Given the description of an element on the screen output the (x, y) to click on. 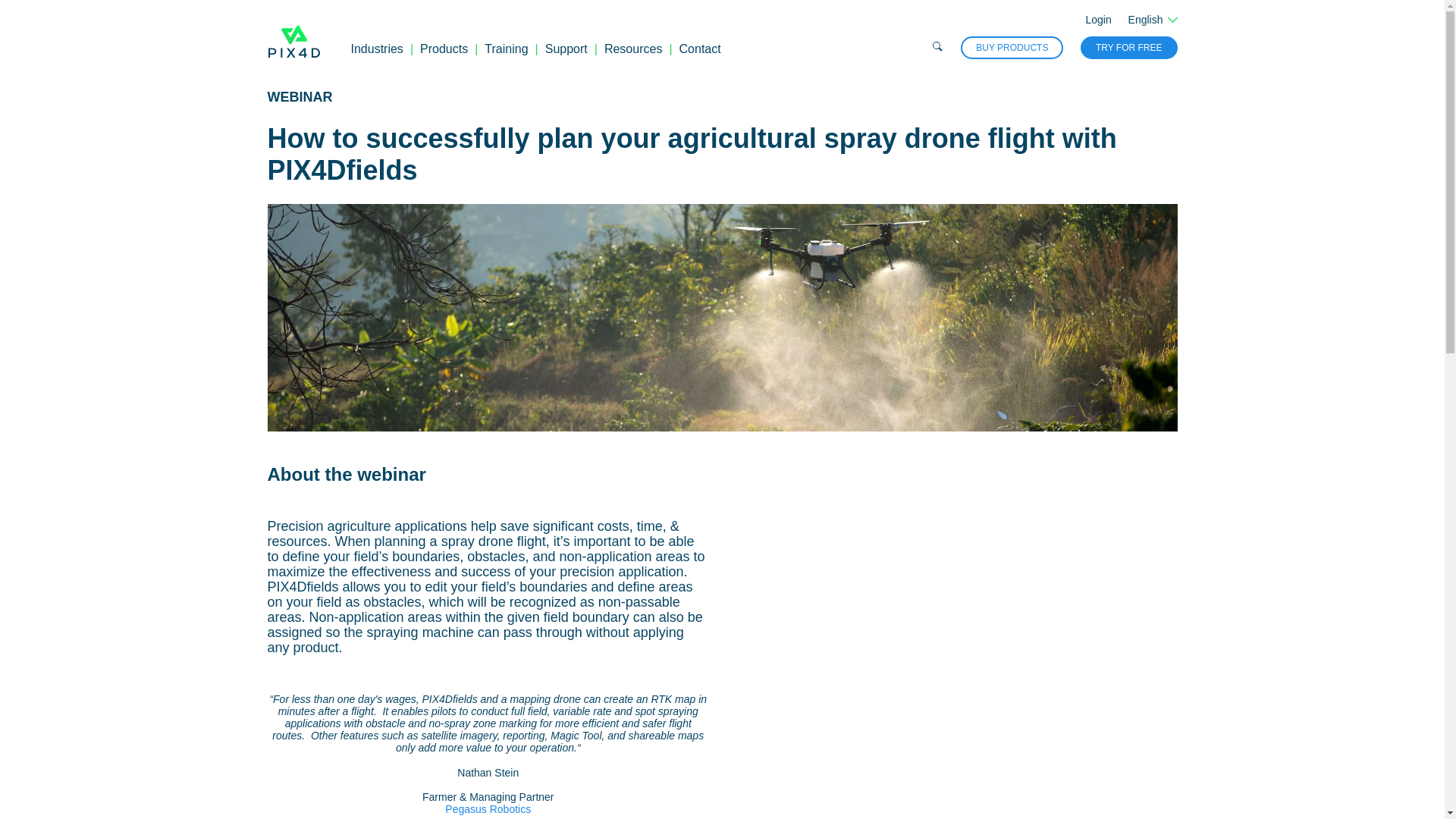
Resources (633, 48)
Industries (376, 48)
Products (443, 48)
Training (505, 48)
Support (566, 48)
Contact (699, 48)
